Given the description of an element on the screen output the (x, y) to click on. 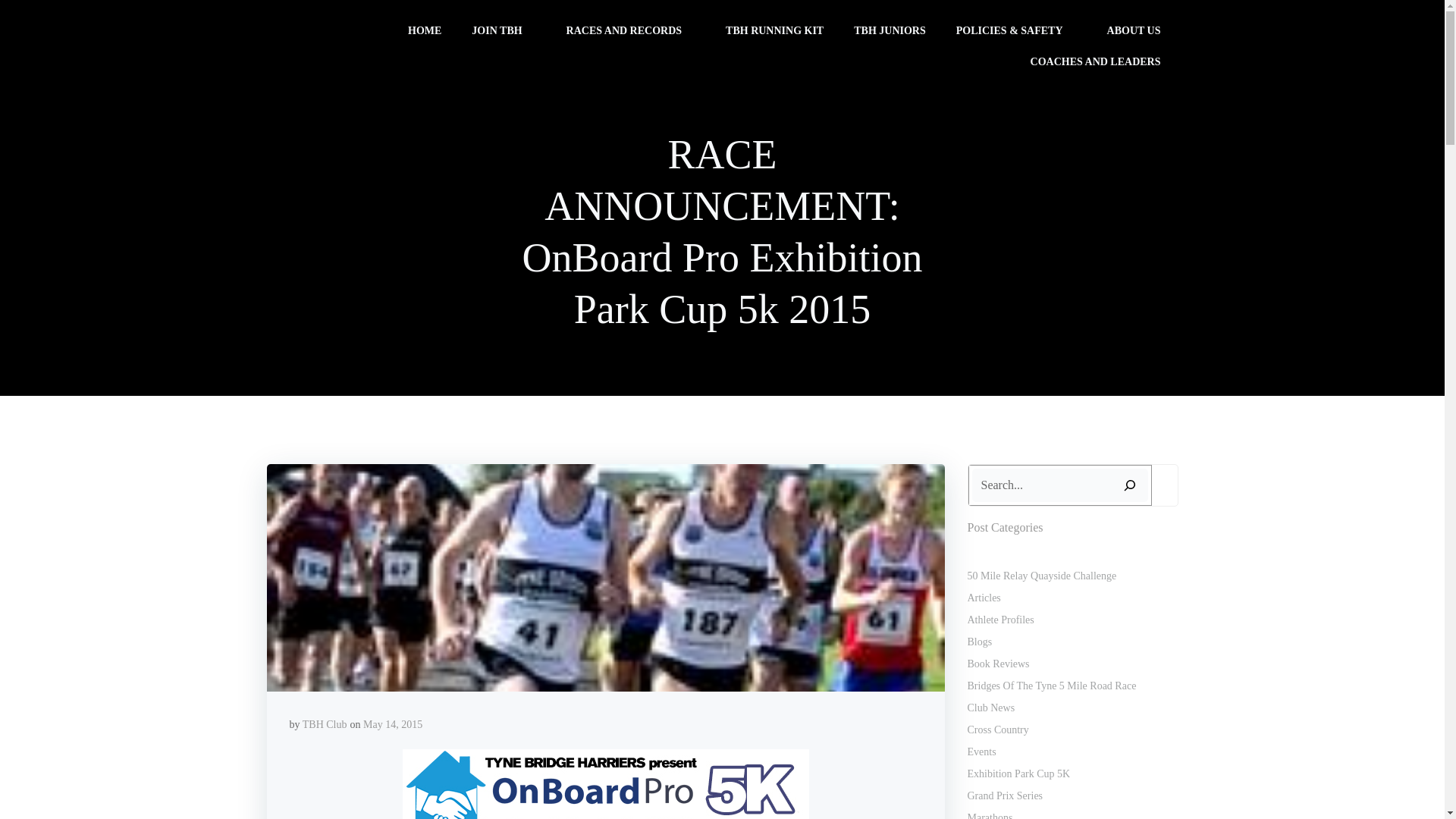
HOME (424, 30)
May 14, 2015 (392, 724)
ABOUT US (1140, 30)
TBH Club (324, 724)
JOIN TBH (503, 30)
TBH JUNIORS (889, 30)
TBH RUNNING KIT (774, 30)
RACES AND RECORDS (630, 30)
COACHES AND LEADERS (1102, 61)
